Given the description of an element on the screen output the (x, y) to click on. 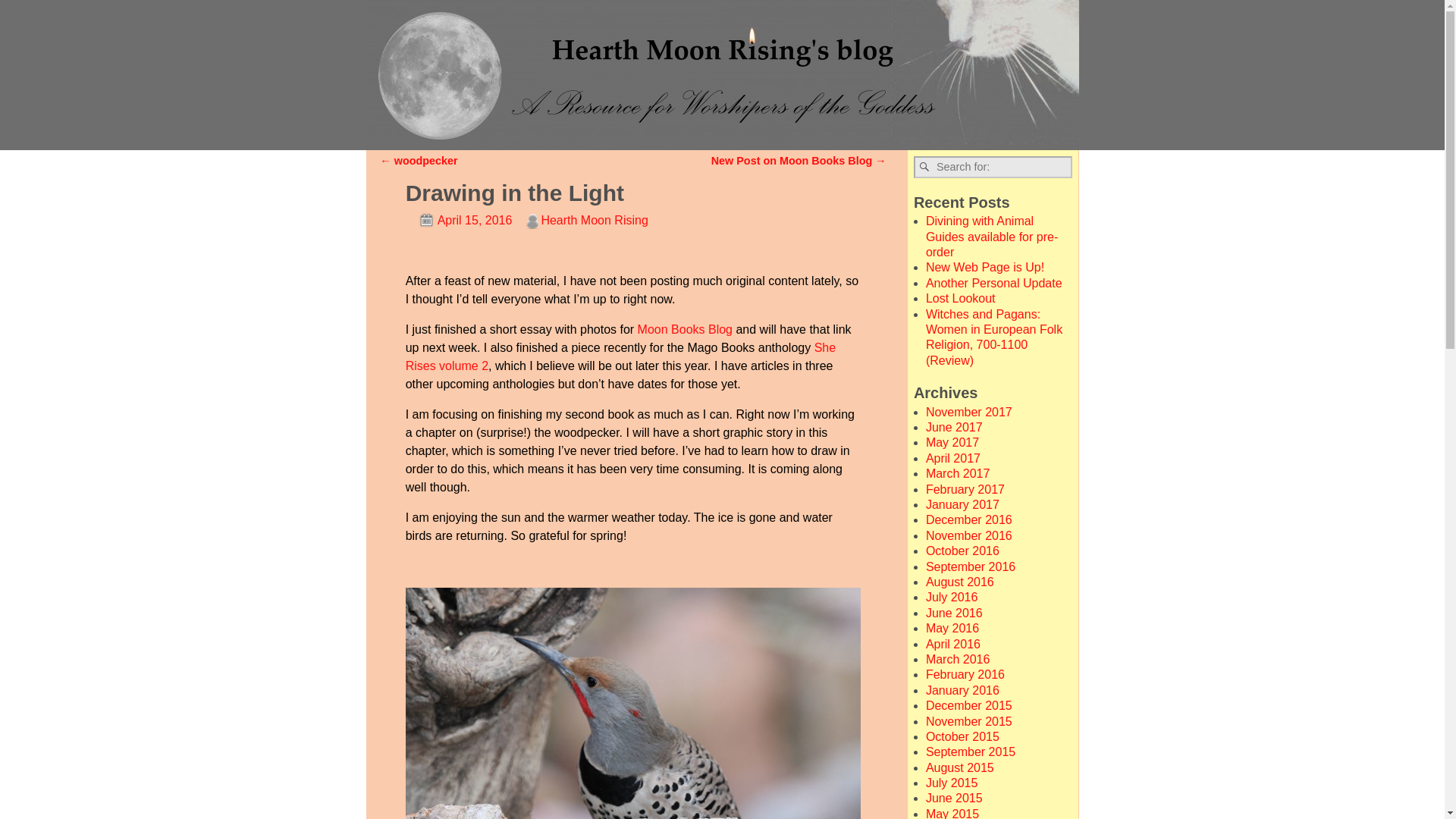
December 2016 (968, 519)
November 2017 (968, 411)
April 15, 2016 (459, 219)
Another Personal Update (994, 282)
May 2016 (952, 627)
June 2017 (954, 427)
Divining with Animal Guides available for pre-order (992, 236)
September 2016 (970, 566)
New Web Page is Up! (984, 267)
12:01 am (459, 219)
